Given the description of an element on the screen output the (x, y) to click on. 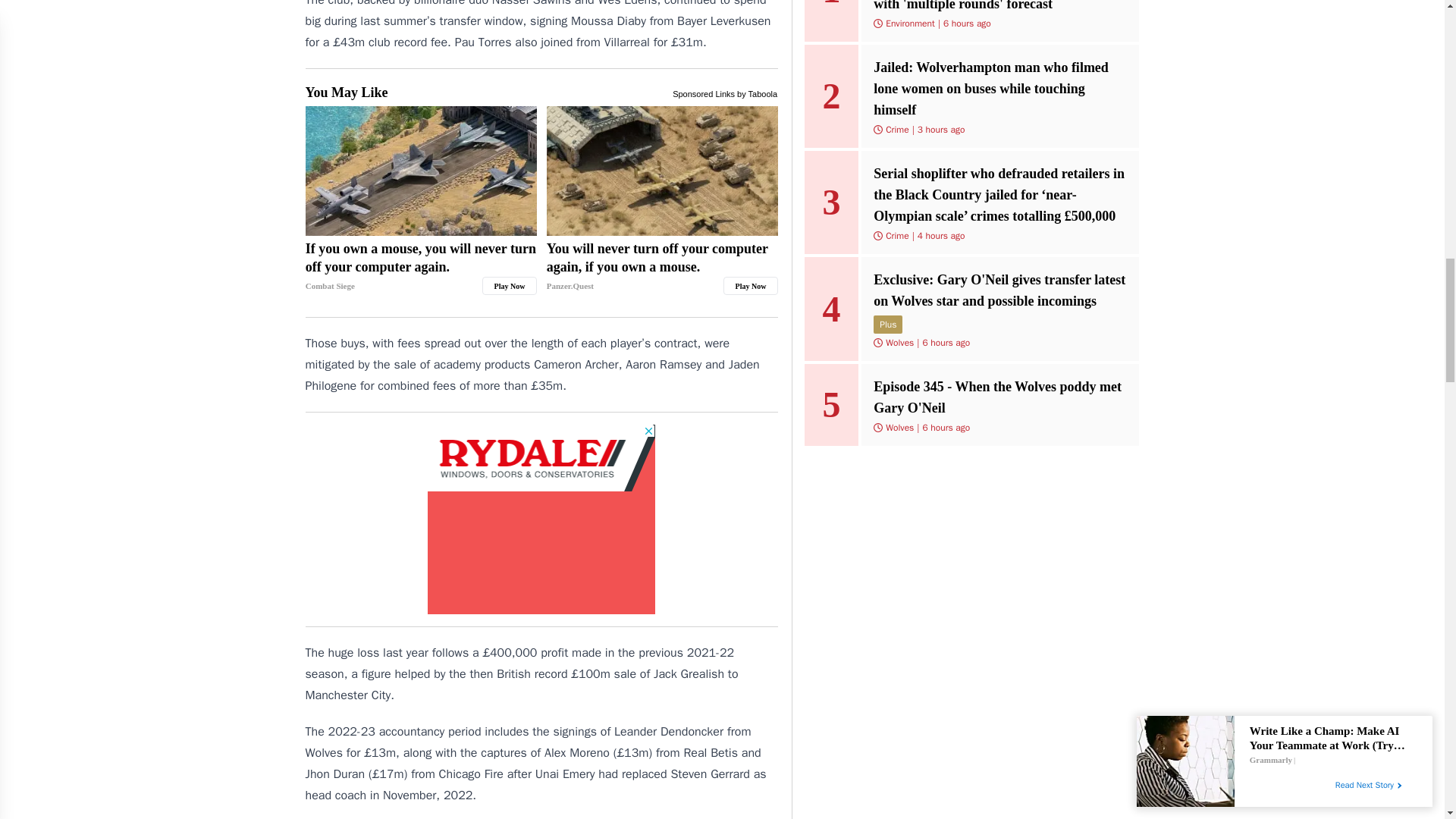
3rd party ad content (541, 519)
